Given the description of an element on the screen output the (x, y) to click on. 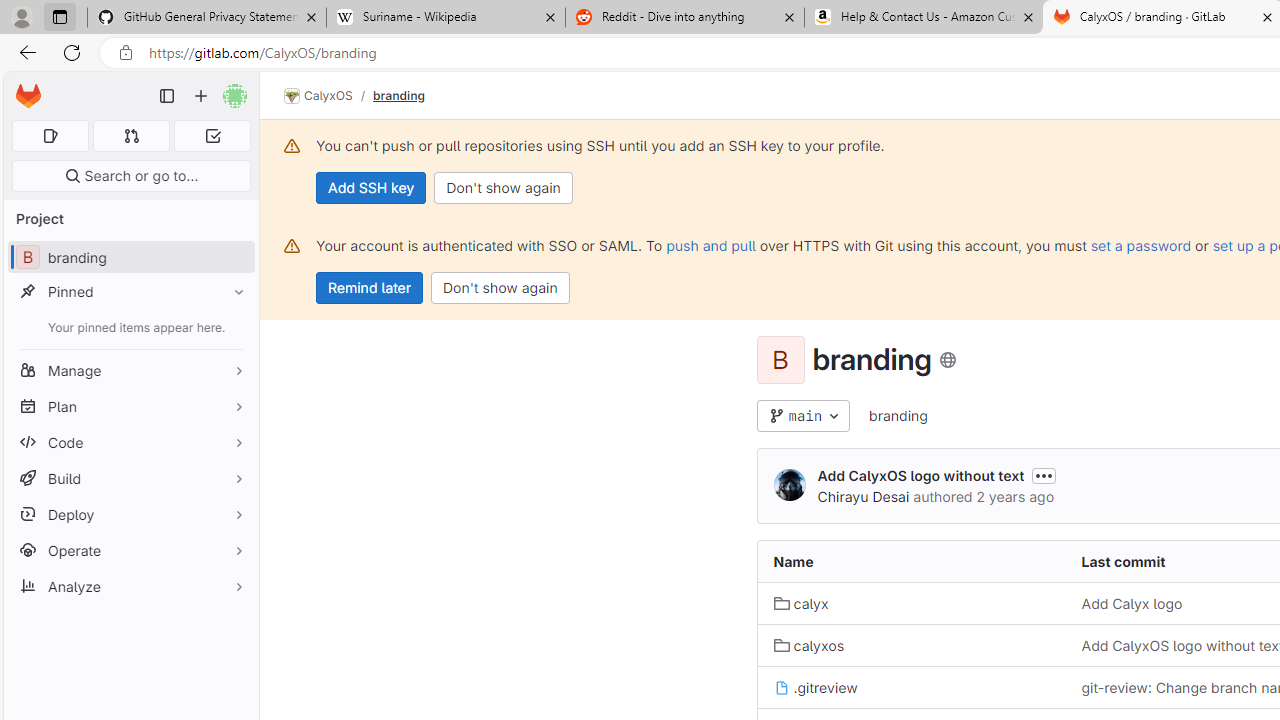
Suriname - Wikipedia (445, 17)
Deploy (130, 514)
Plan (130, 406)
calyx (801, 603)
CalyxOS (318, 96)
Class: s16 position-relative file-icon (781, 687)
To-Do list 0 (212, 136)
Assigned issues 0 (50, 136)
Toggle commit description (1044, 475)
calyx (911, 602)
